Given the description of an element on the screen output the (x, y) to click on. 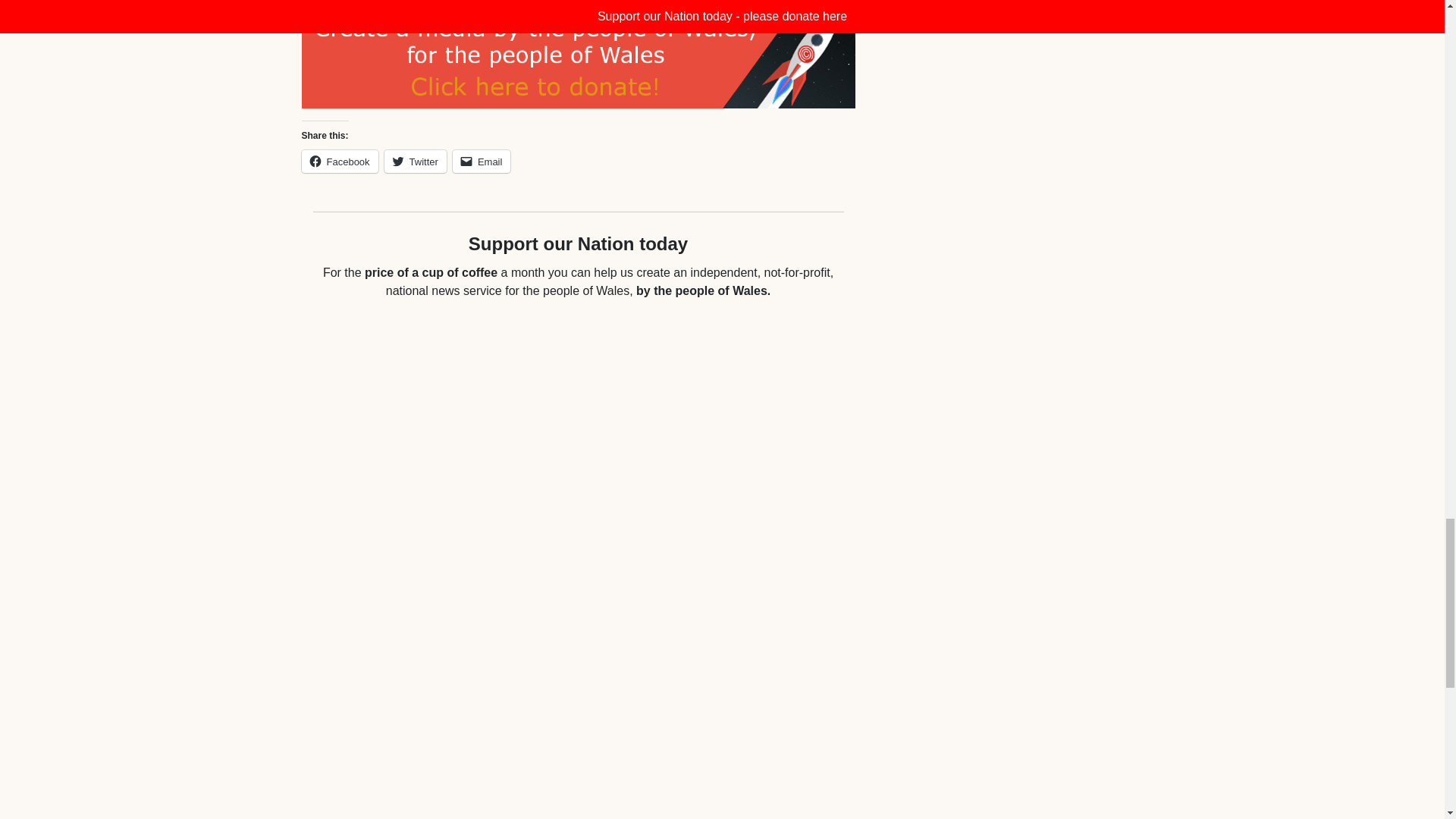
Twitter (415, 160)
Click to email a link to a friend (481, 160)
Facebook (339, 160)
Click to share on Twitter (415, 160)
Click to share on Facebook (339, 160)
Email (481, 160)
